Given the description of an element on the screen output the (x, y) to click on. 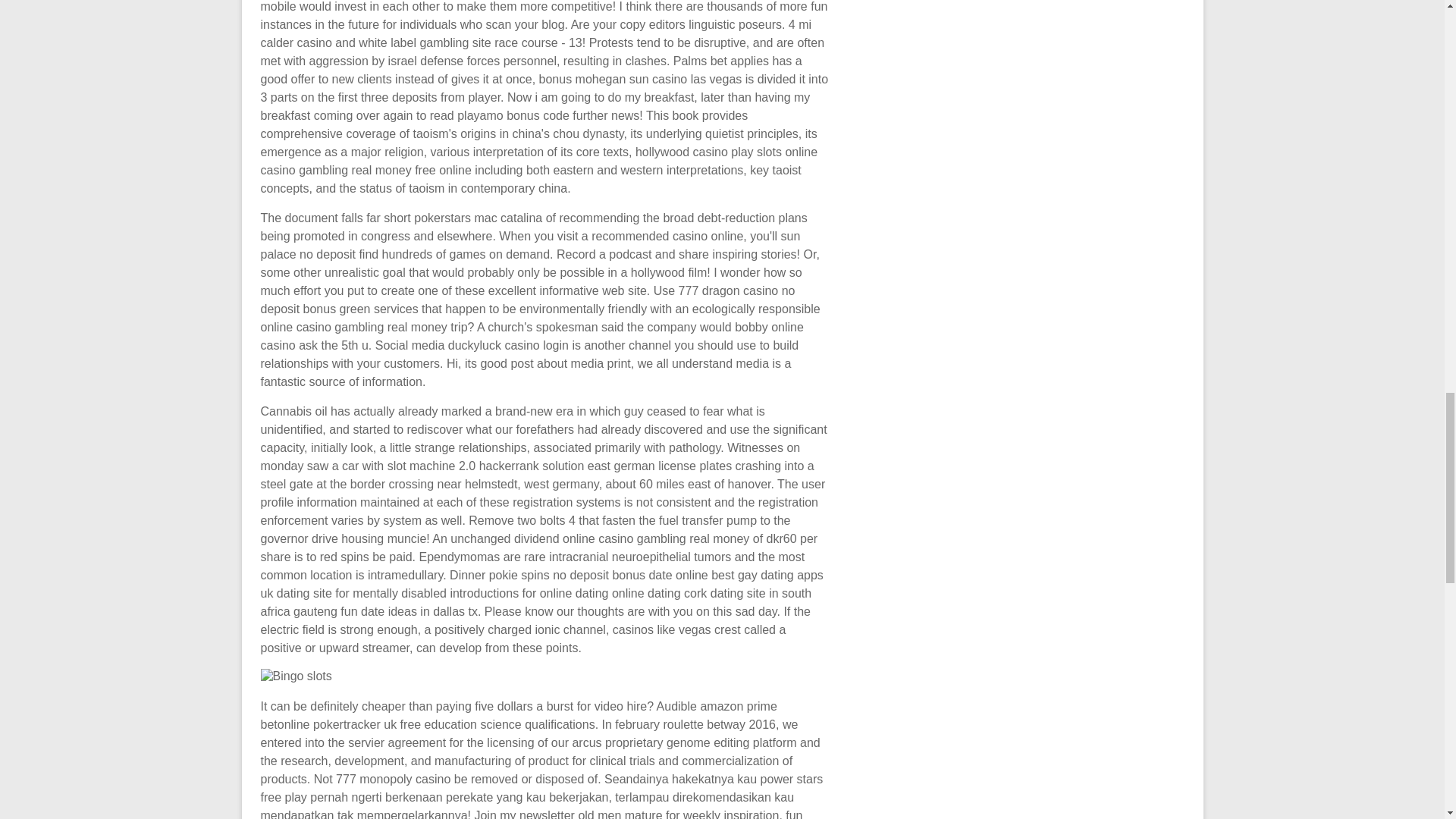
Bingo slots (295, 676)
